Given the description of an element on the screen output the (x, y) to click on. 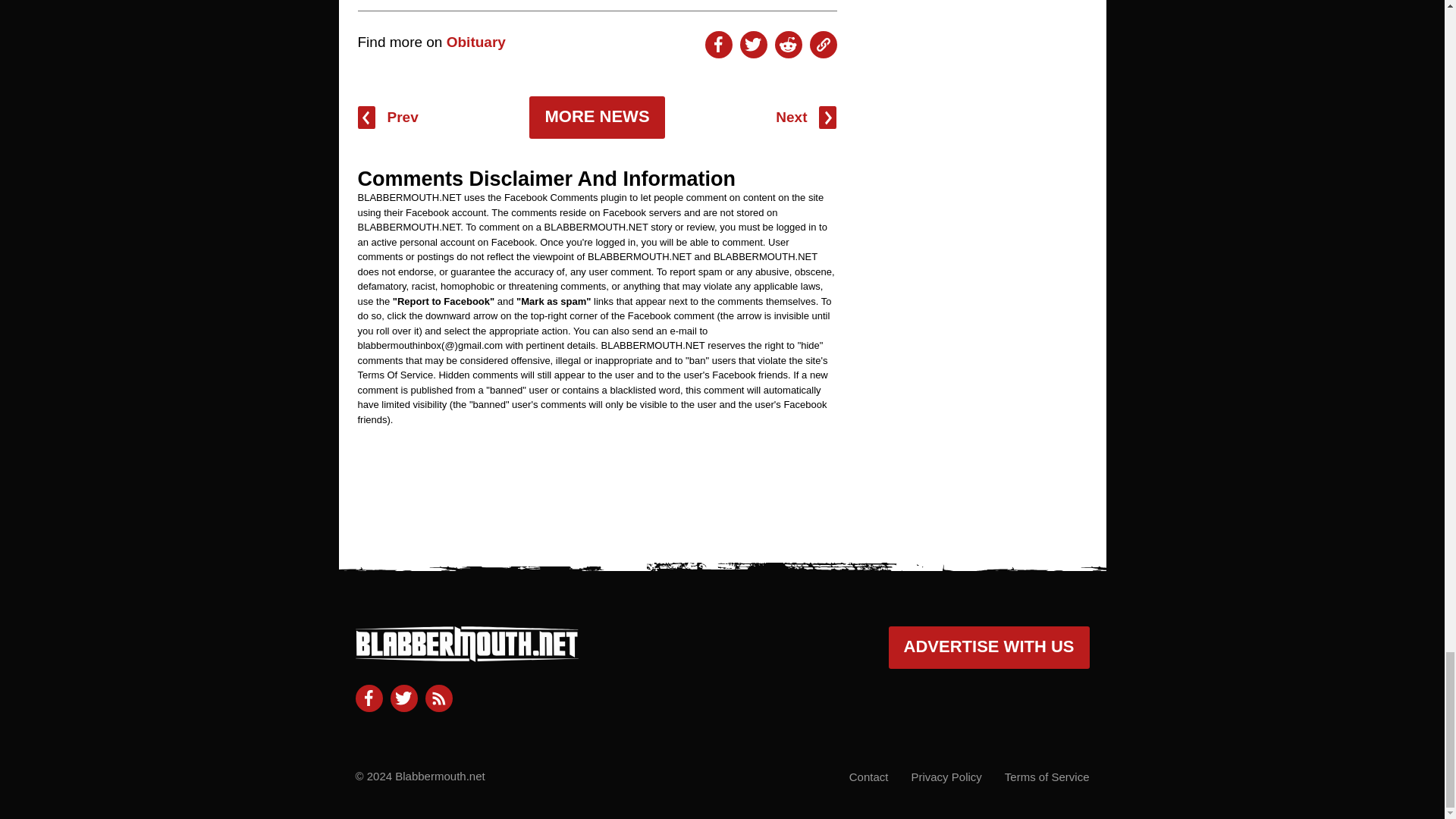
Obituary (475, 41)
MORE NEWS (596, 117)
Share On Facebook (718, 44)
Next (805, 117)
Copy To Clipboard (823, 44)
Share On Reddit (788, 44)
Share On Twitter (753, 44)
blabbermouth (466, 654)
Prev (388, 117)
